Given the description of an element on the screen output the (x, y) to click on. 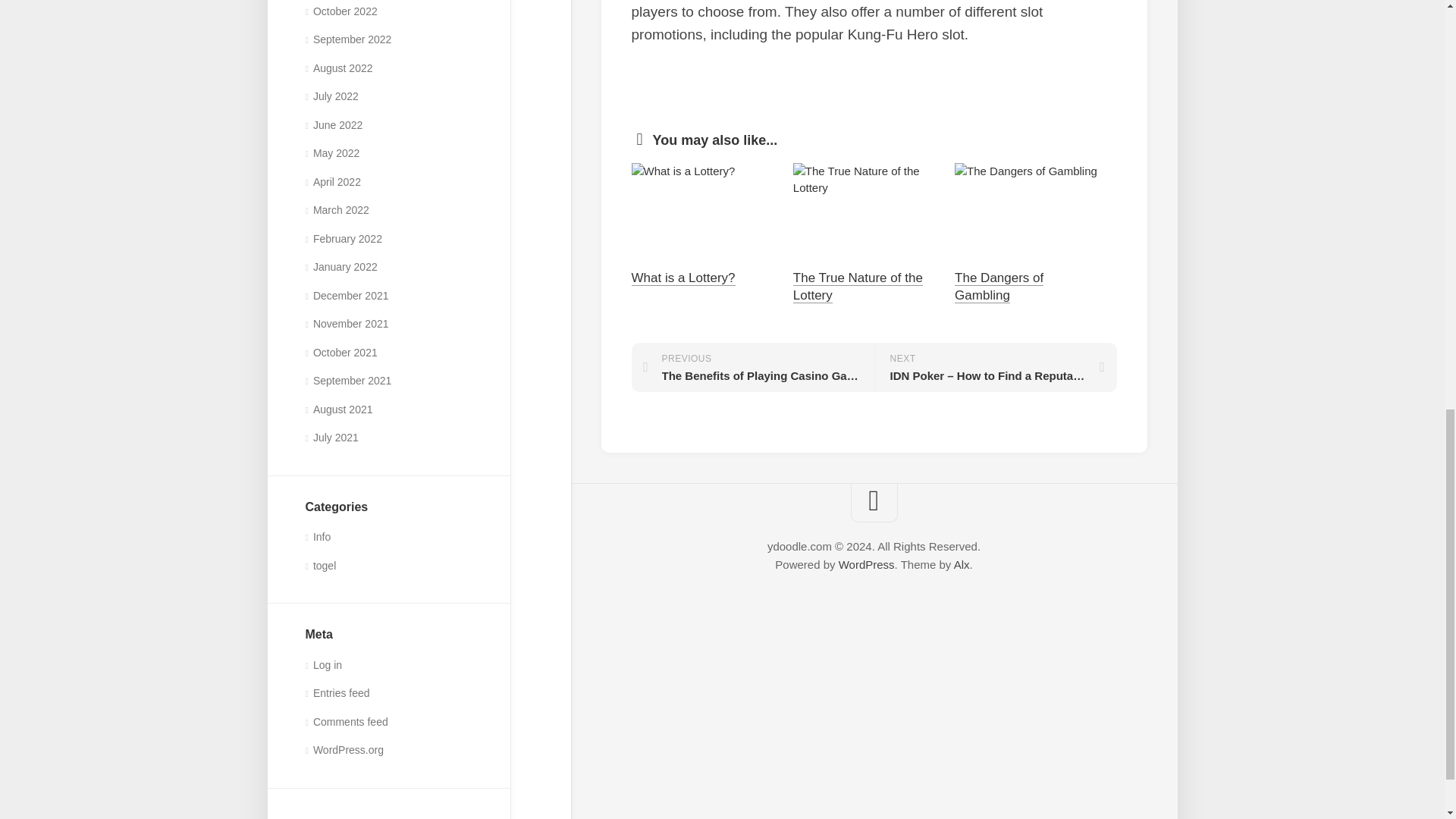
April 2022 (331, 182)
October 2021 (340, 352)
October 2022 (340, 10)
September 2022 (347, 39)
August 2022 (338, 68)
February 2022 (342, 238)
November 2021 (346, 323)
January 2022 (340, 266)
June 2022 (333, 124)
July 2022 (331, 96)
December 2021 (346, 295)
March 2022 (336, 209)
May 2022 (331, 152)
September 2021 (347, 380)
